Given the description of an element on the screen output the (x, y) to click on. 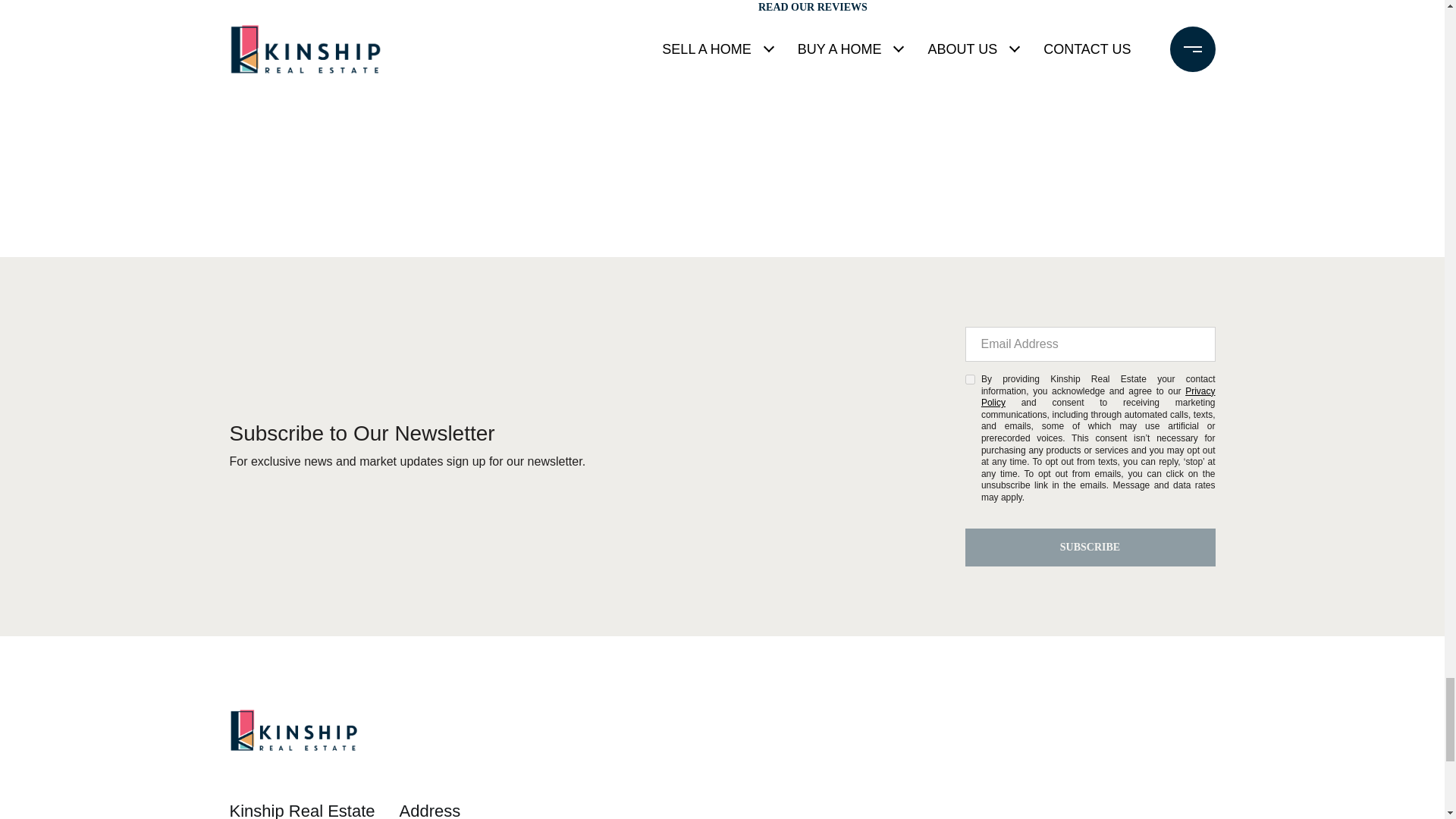
on (968, 379)
